Given the description of an element on the screen output the (x, y) to click on. 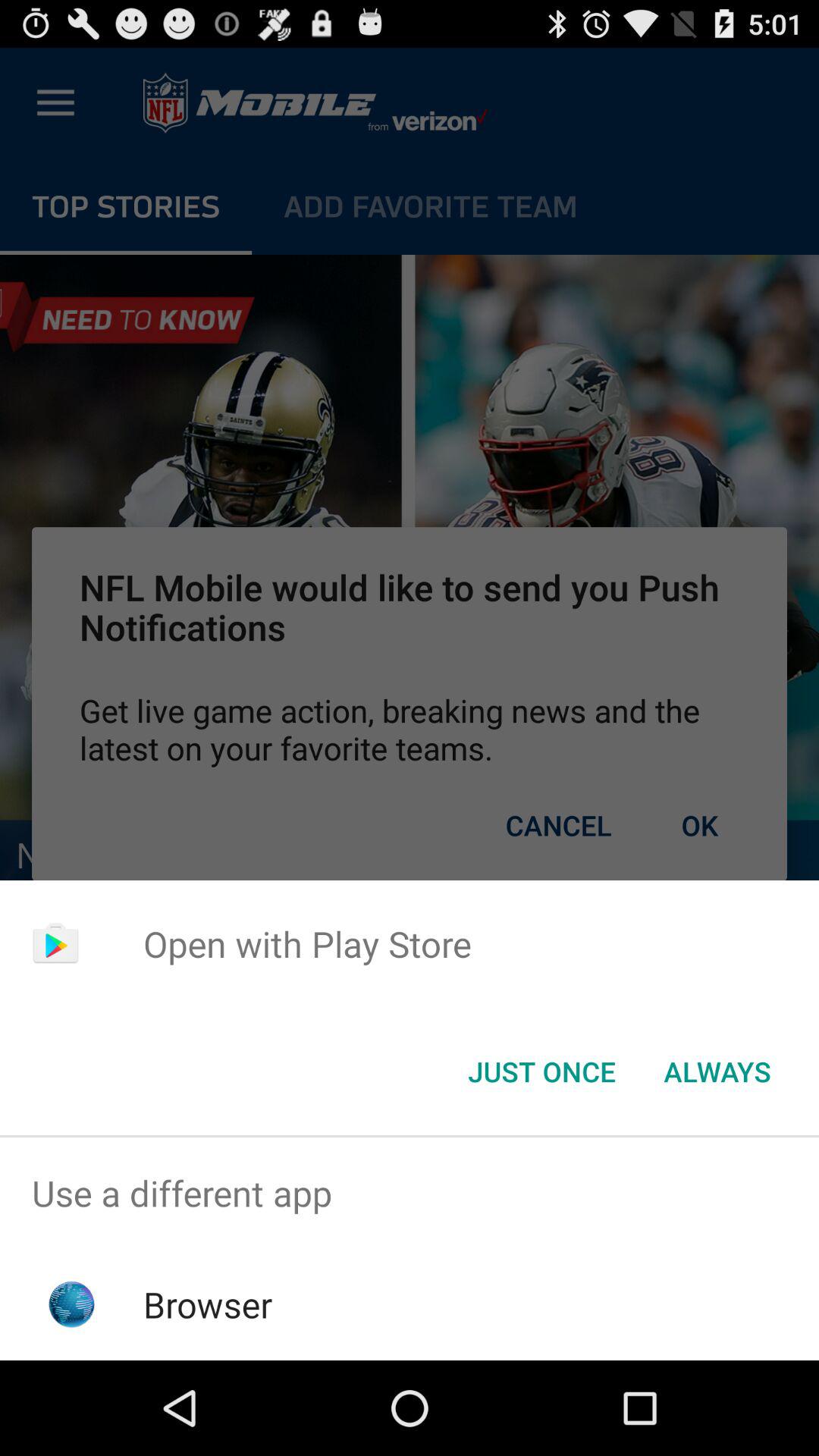
select the app below the open with play (541, 1071)
